Given the description of an element on the screen output the (x, y) to click on. 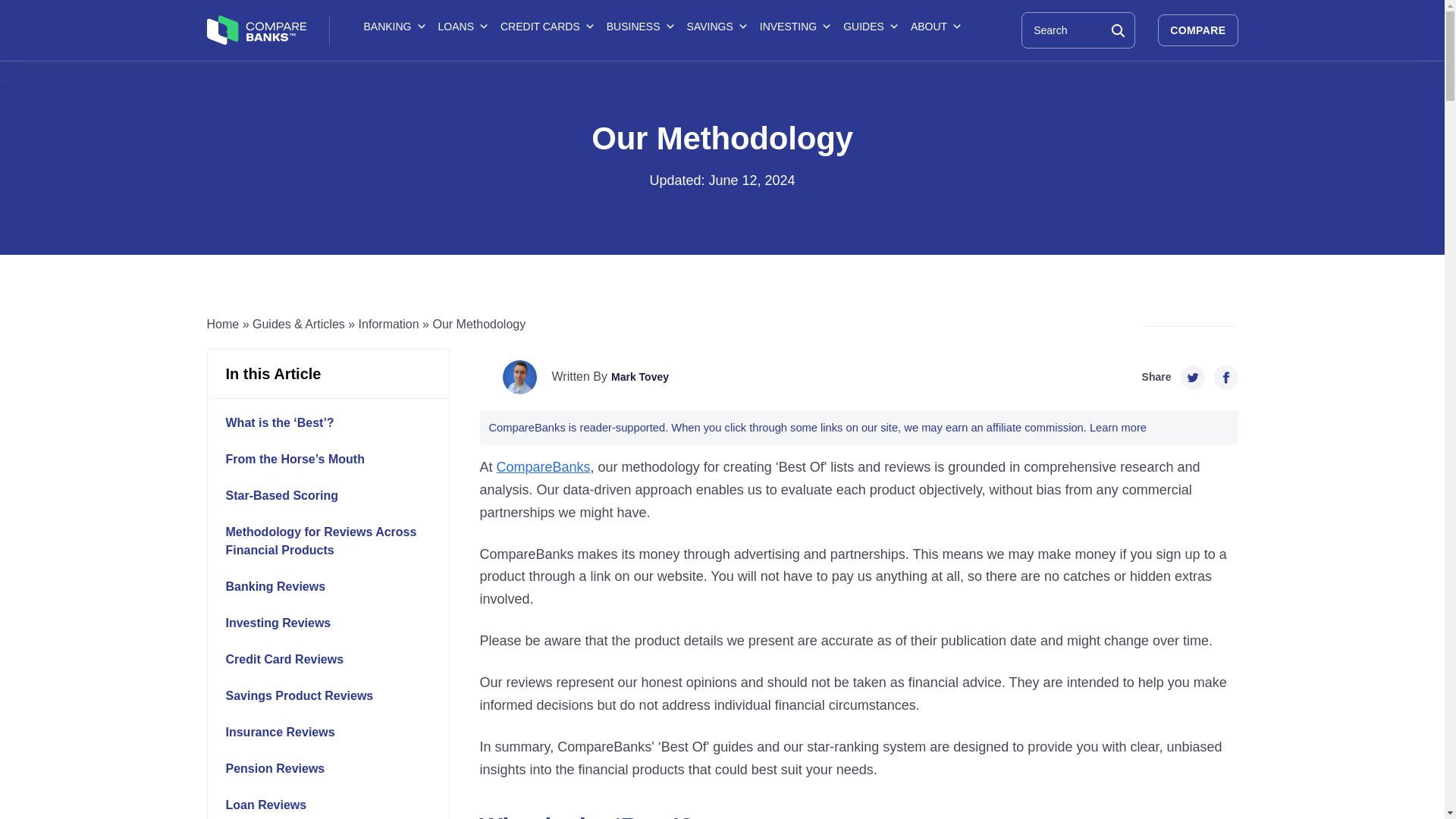
Banking Reviews (335, 587)
BANKING (393, 26)
Loan Reviews (335, 805)
Investing Reviews (335, 623)
LOANS (461, 26)
Credit Card Reviews (335, 659)
Methodology for Reviews Across Financial Products (335, 541)
Savings Product Reviews (335, 696)
Insurance Reviews (335, 732)
Pension Reviews (335, 769)
